Given the description of an element on the screen output the (x, y) to click on. 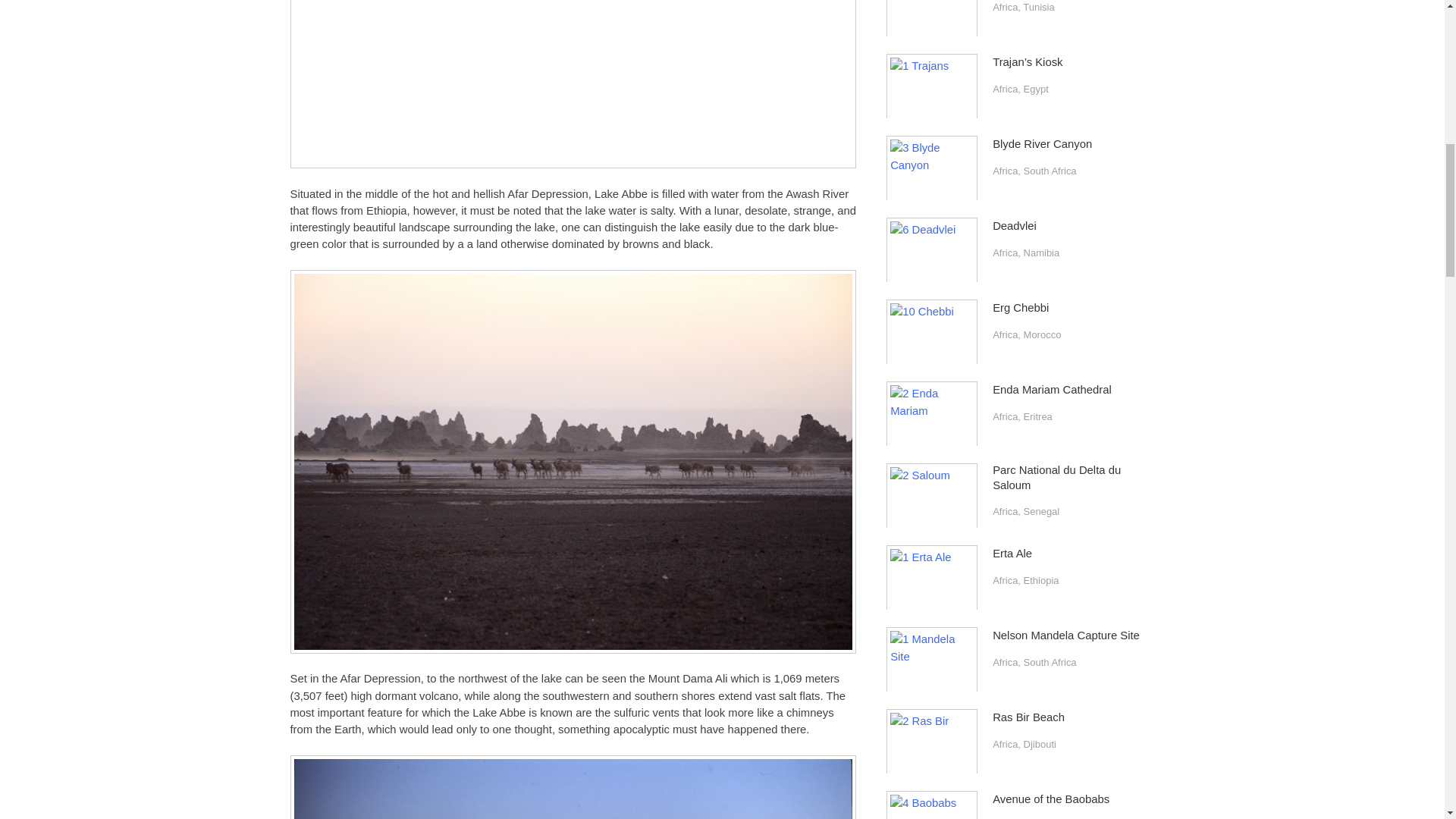
Source: wikipedia.org by Jbcombes  (572, 787)
Source: flickr.com by Amira Elwakil  (572, 84)
